Given the description of an element on the screen output the (x, y) to click on. 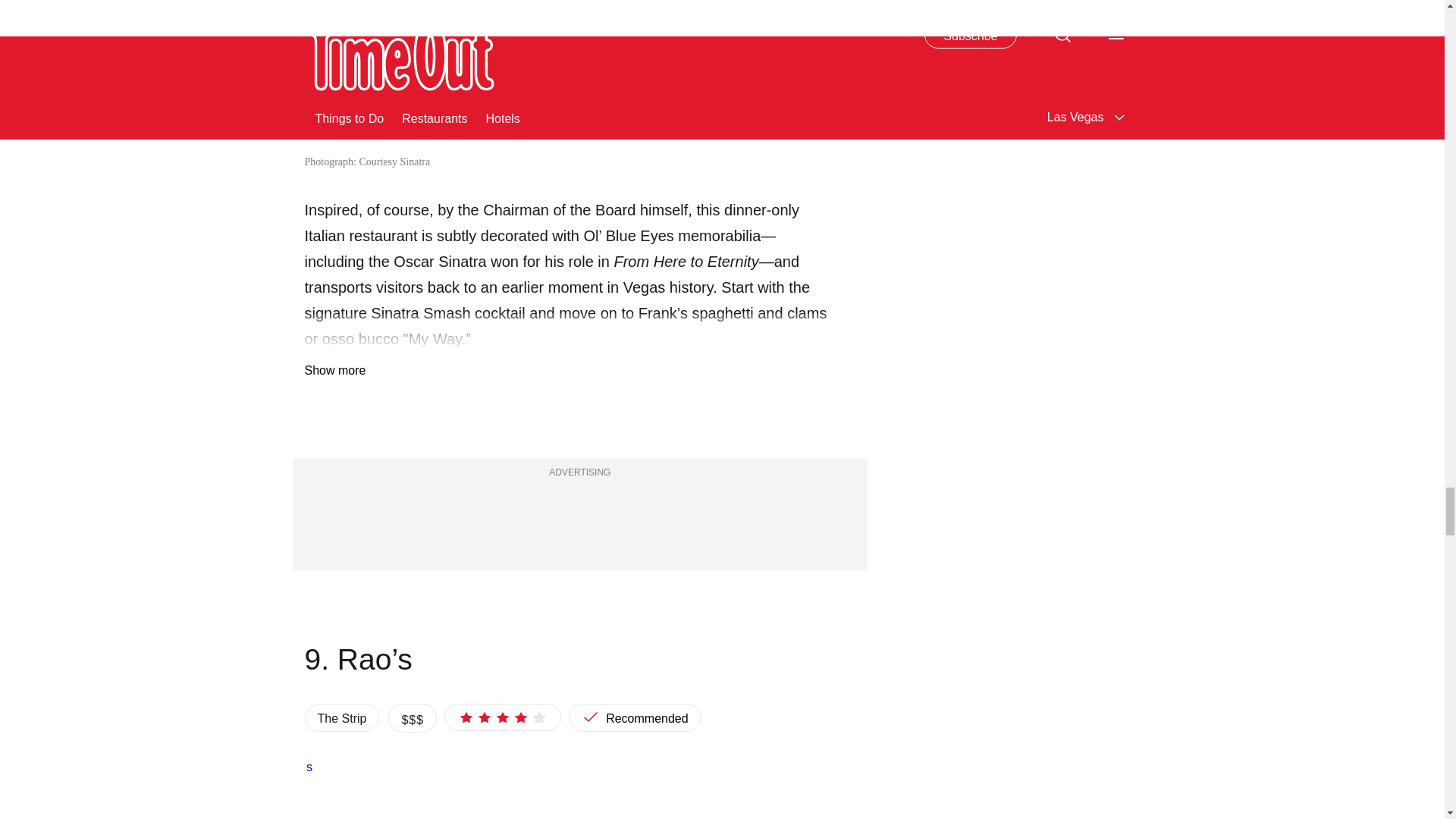
Sinatra (568, 76)
